Given the description of an element on the screen output the (x, y) to click on. 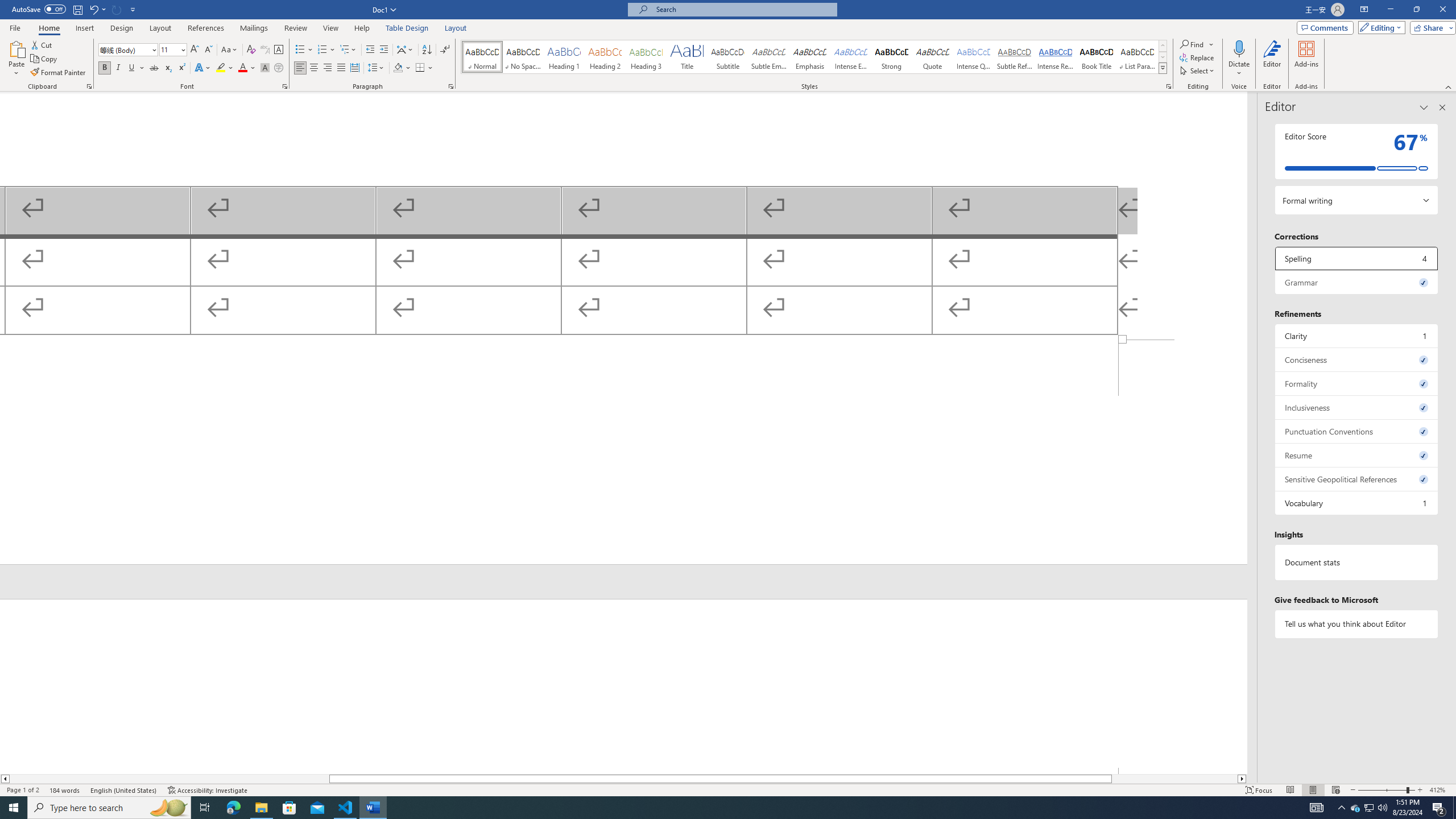
Row Down (1162, 56)
Show/Hide Editing Marks (444, 49)
Shading (402, 67)
Footer -Section 1- (623, 452)
Character Border (278, 49)
Text Effects and Typography (202, 67)
Decrease Indent (370, 49)
Page right (1174, 778)
Page Number Page 1 of 2 (22, 790)
Align Left (300, 67)
